Given the description of an element on the screen output the (x, y) to click on. 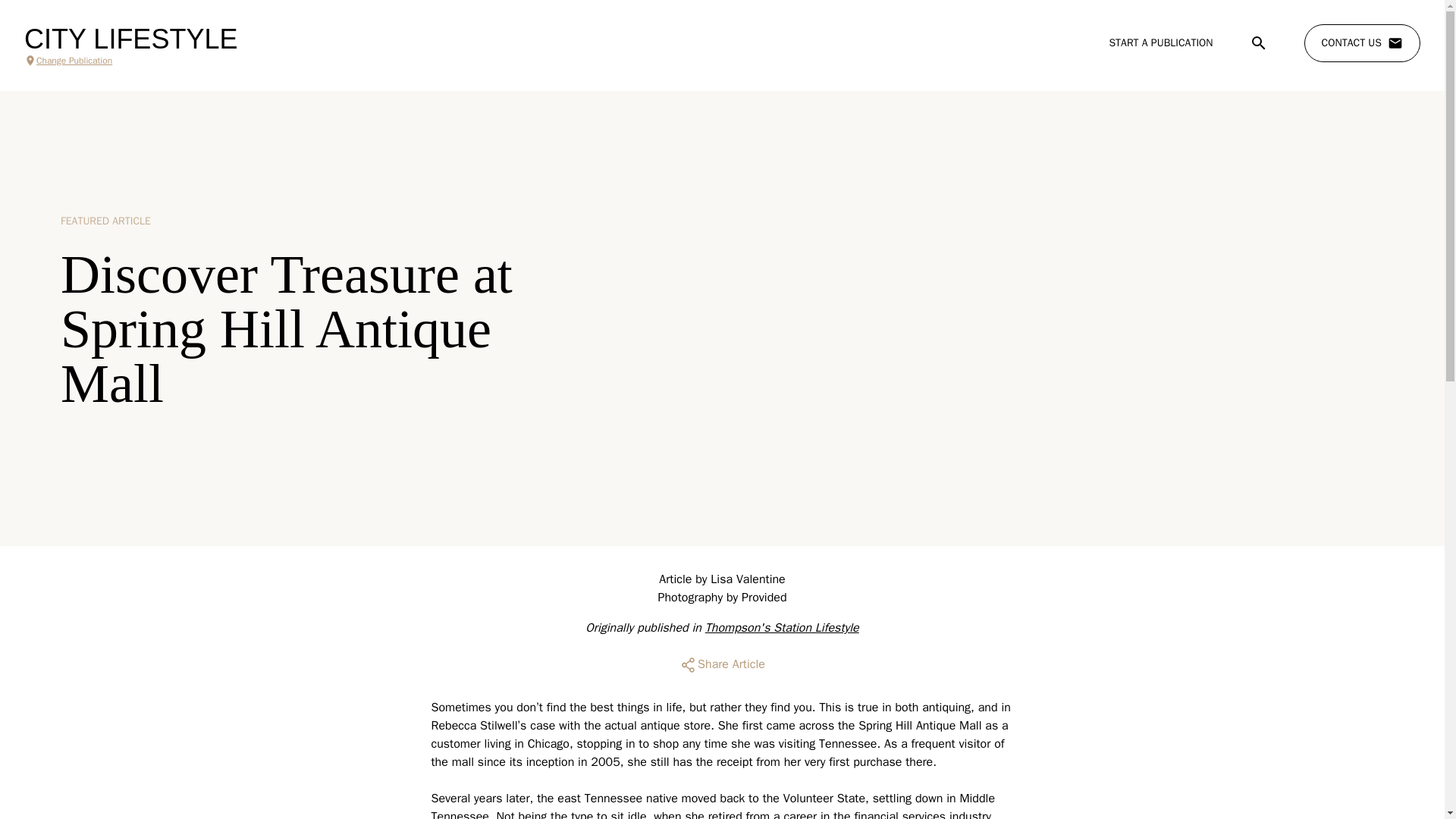
CONTACT US (1362, 43)
START A PUBLICATION (1160, 42)
Thompson's Station Lifestyle (781, 627)
Share Article (722, 664)
CITY LIFESTYLE (130, 39)
Change Publication (130, 60)
